Given the description of an element on the screen output the (x, y) to click on. 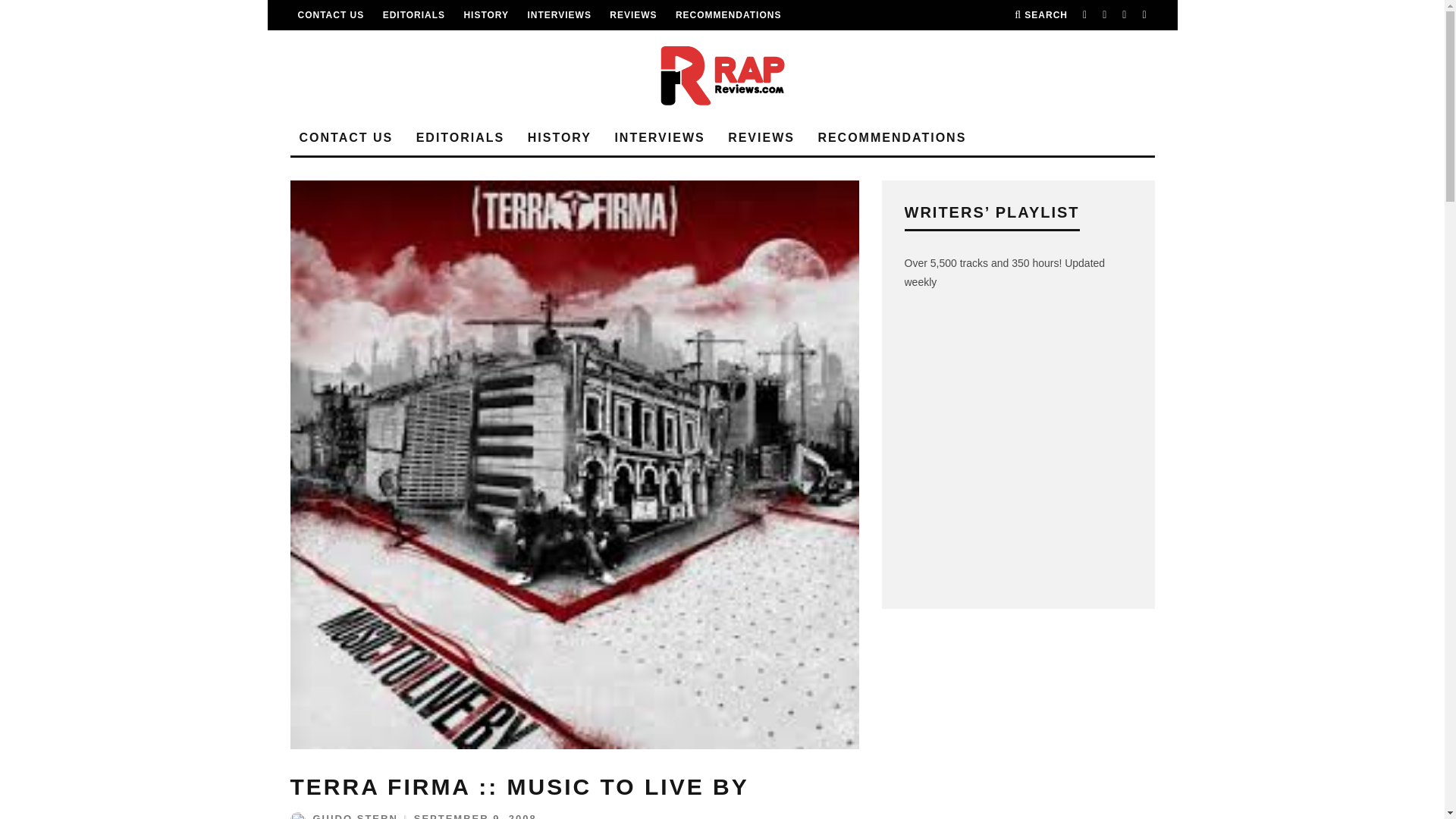
REVIEWS (633, 15)
HISTORY (485, 15)
SEARCH (1040, 15)
CONTACT US (330, 15)
Search (1040, 15)
RECOMMENDATIONS (727, 15)
INTERVIEWS (559, 15)
EDITORIALS (413, 15)
